Given the description of an element on the screen output the (x, y) to click on. 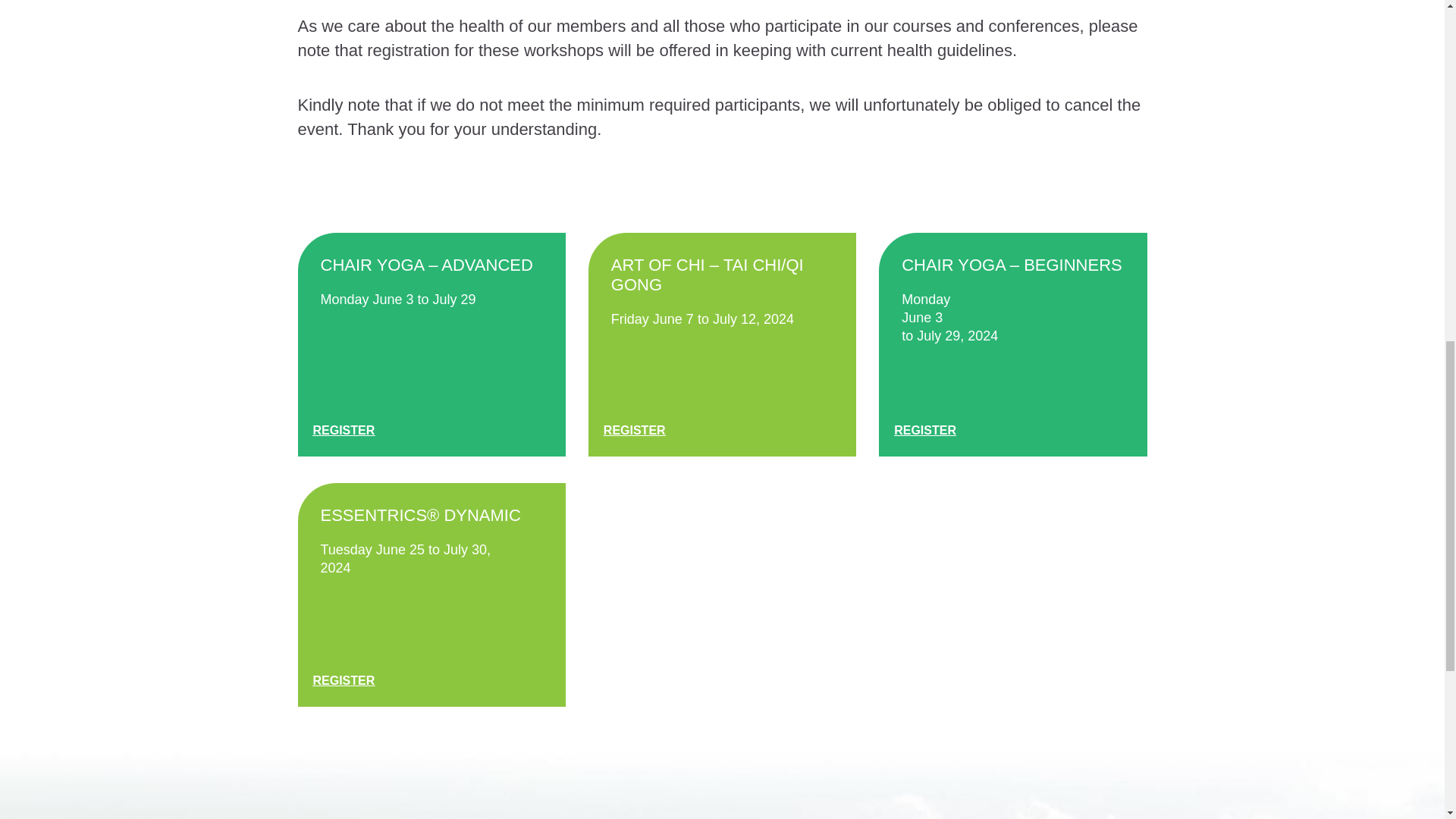
REGISTER (924, 430)
REGISTER (634, 430)
REGISTER (343, 680)
REGISTER (343, 430)
